Given the description of an element on the screen output the (x, y) to click on. 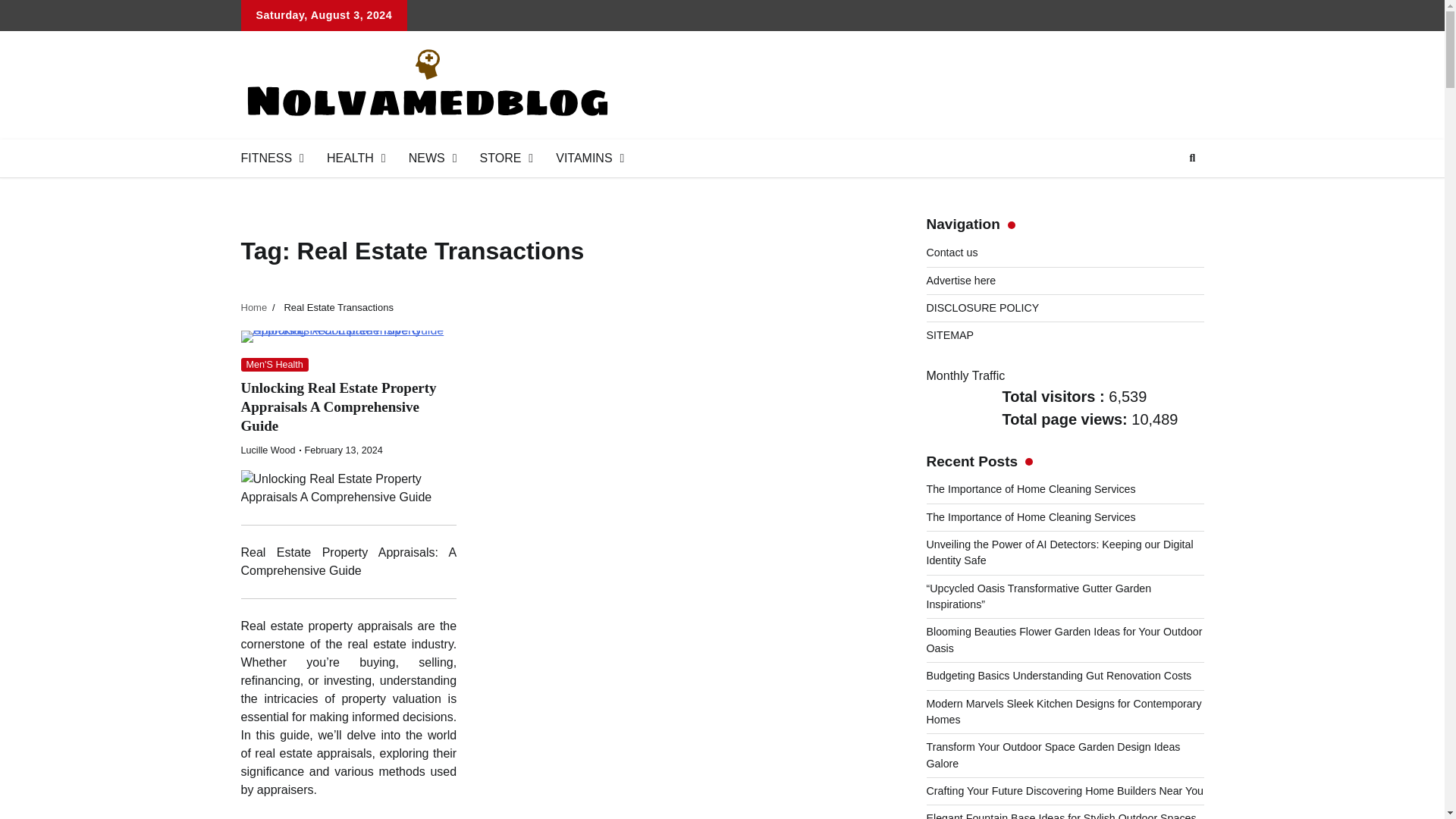
VITAMINS (589, 158)
DISCLOSURE POLICY (982, 307)
Contact us (952, 252)
Search (1192, 158)
HEALTH (356, 158)
Search (1164, 194)
Home (254, 307)
NEWS (432, 158)
STORE (506, 158)
FITNESS (271, 158)
Lucille Wood (268, 450)
Men'S Health (274, 364)
Advertise here (960, 280)
